Given the description of an element on the screen output the (x, y) to click on. 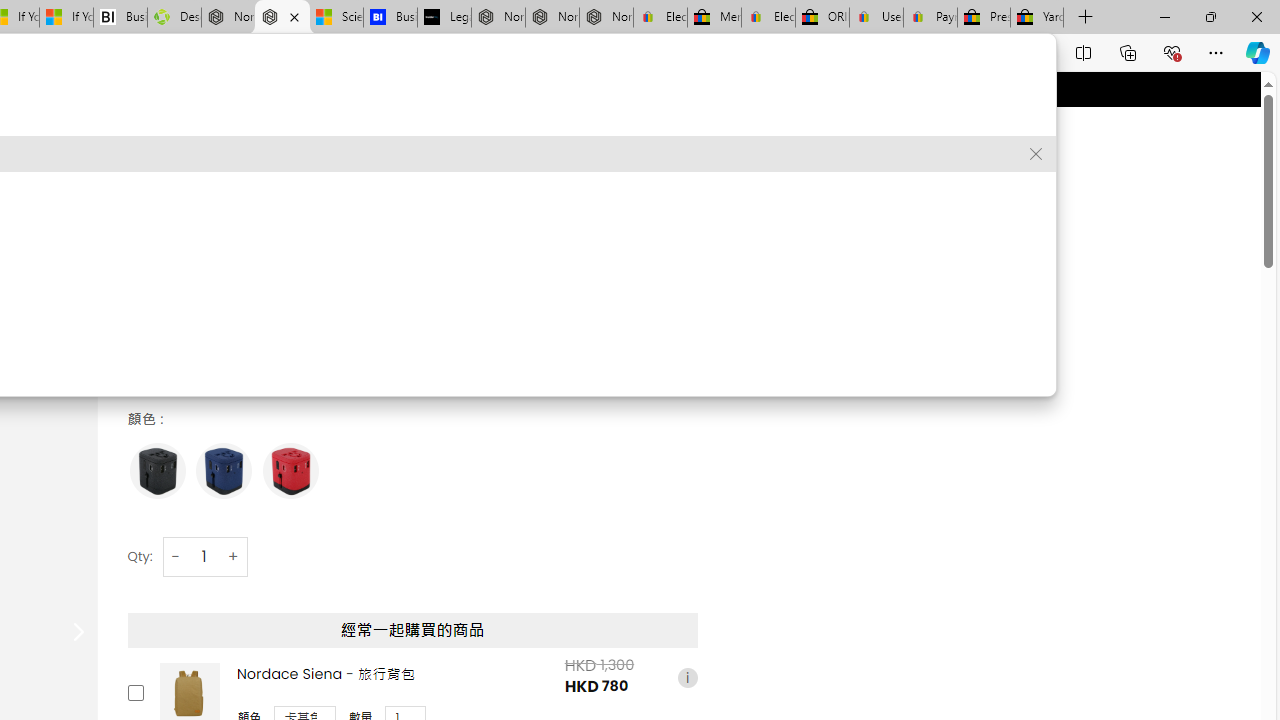
i (687, 677)
Payments Terms of Use | eBay.com (930, 17)
Remove suggestion (1036, 153)
Add this product to cart (134, 692)
Nordace - Summer Adventures 2024 (228, 17)
